Given the description of an element on the screen output the (x, y) to click on. 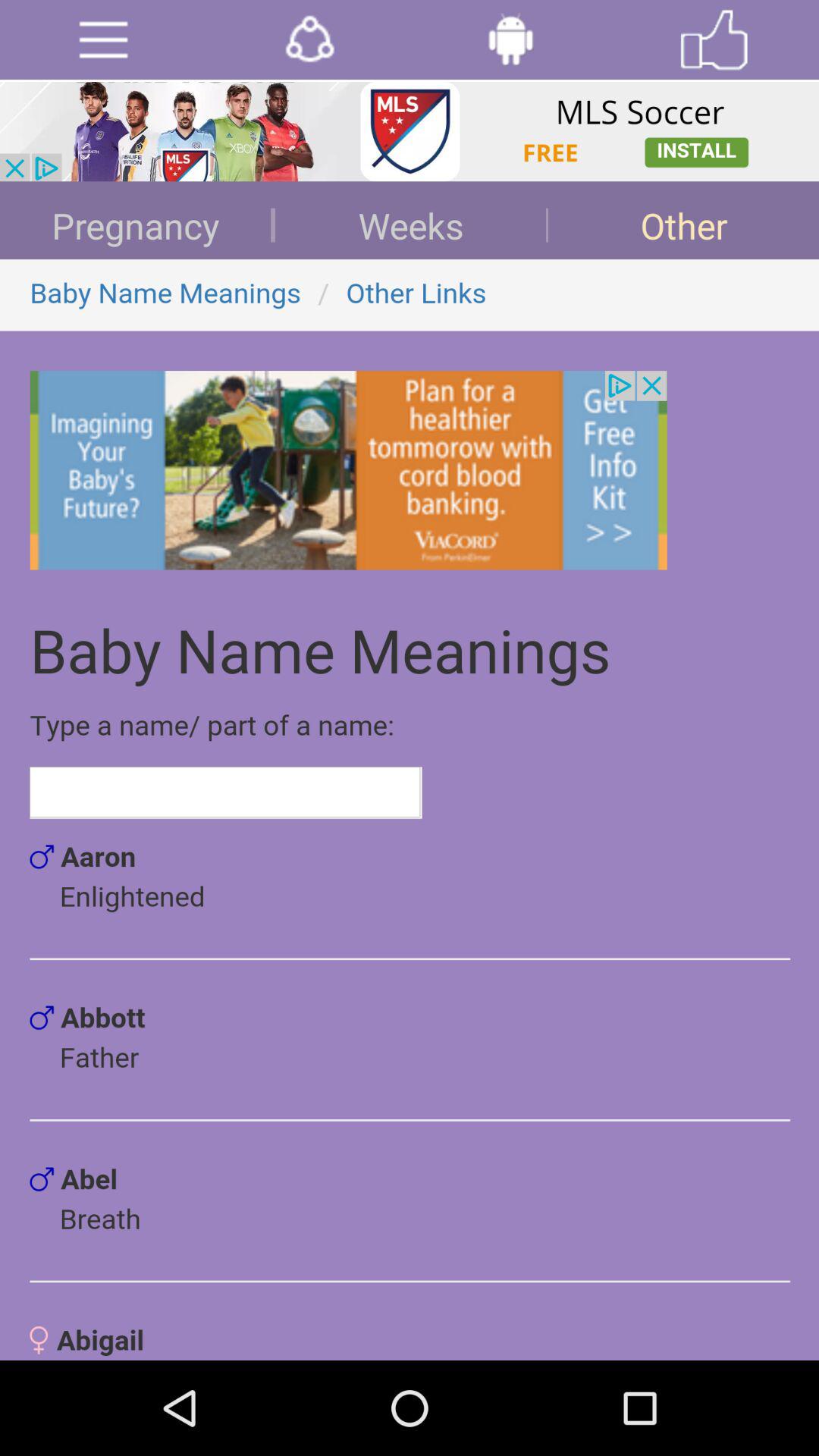
open network options (309, 39)
